Given the description of an element on the screen output the (x, y) to click on. 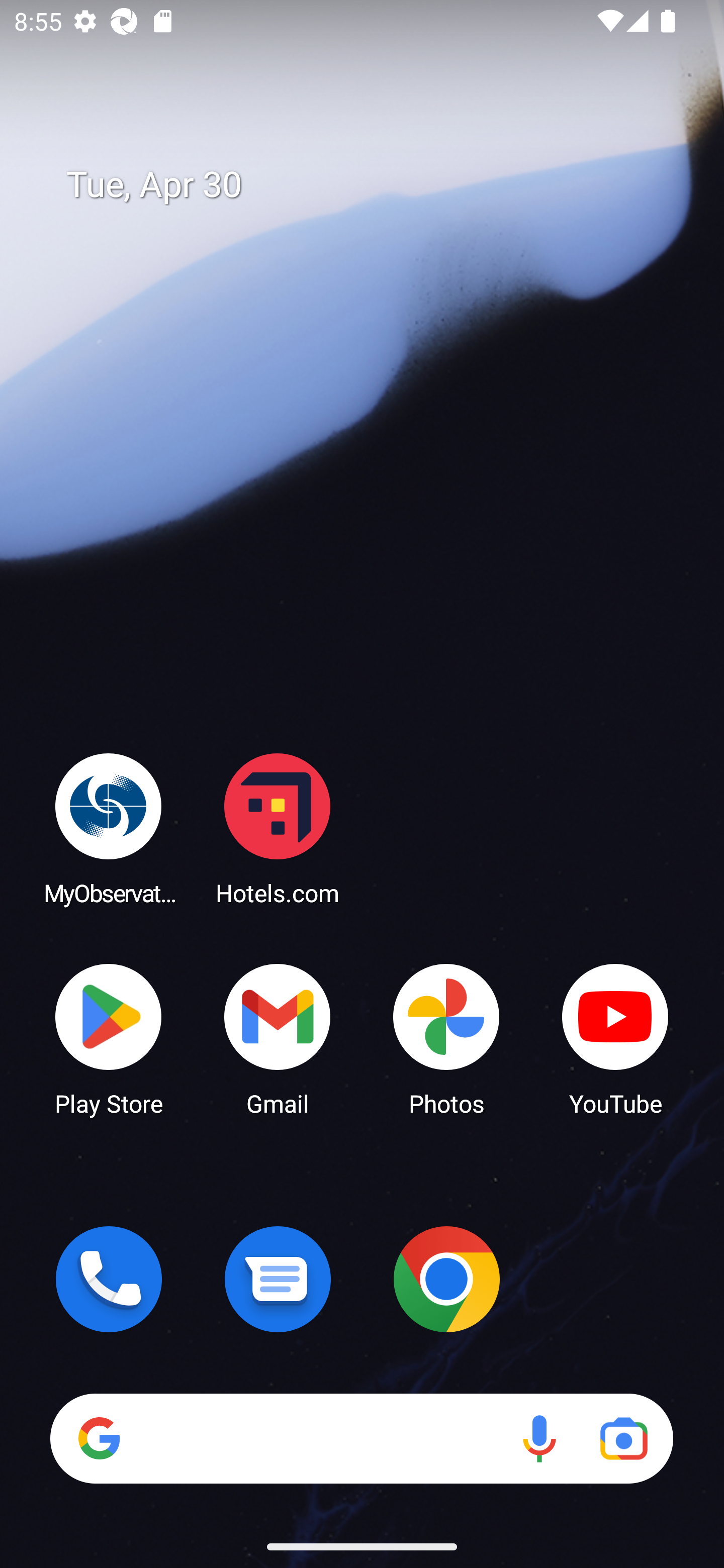
Tue, Apr 30 (375, 184)
MyObservatory (108, 828)
Hotels.com (277, 828)
Play Store (108, 1038)
Gmail (277, 1038)
Photos (445, 1038)
YouTube (615, 1038)
Phone (108, 1279)
Messages (277, 1279)
Chrome (446, 1279)
Voice search (539, 1438)
Google Lens (623, 1438)
